Given the description of an element on the screen output the (x, y) to click on. 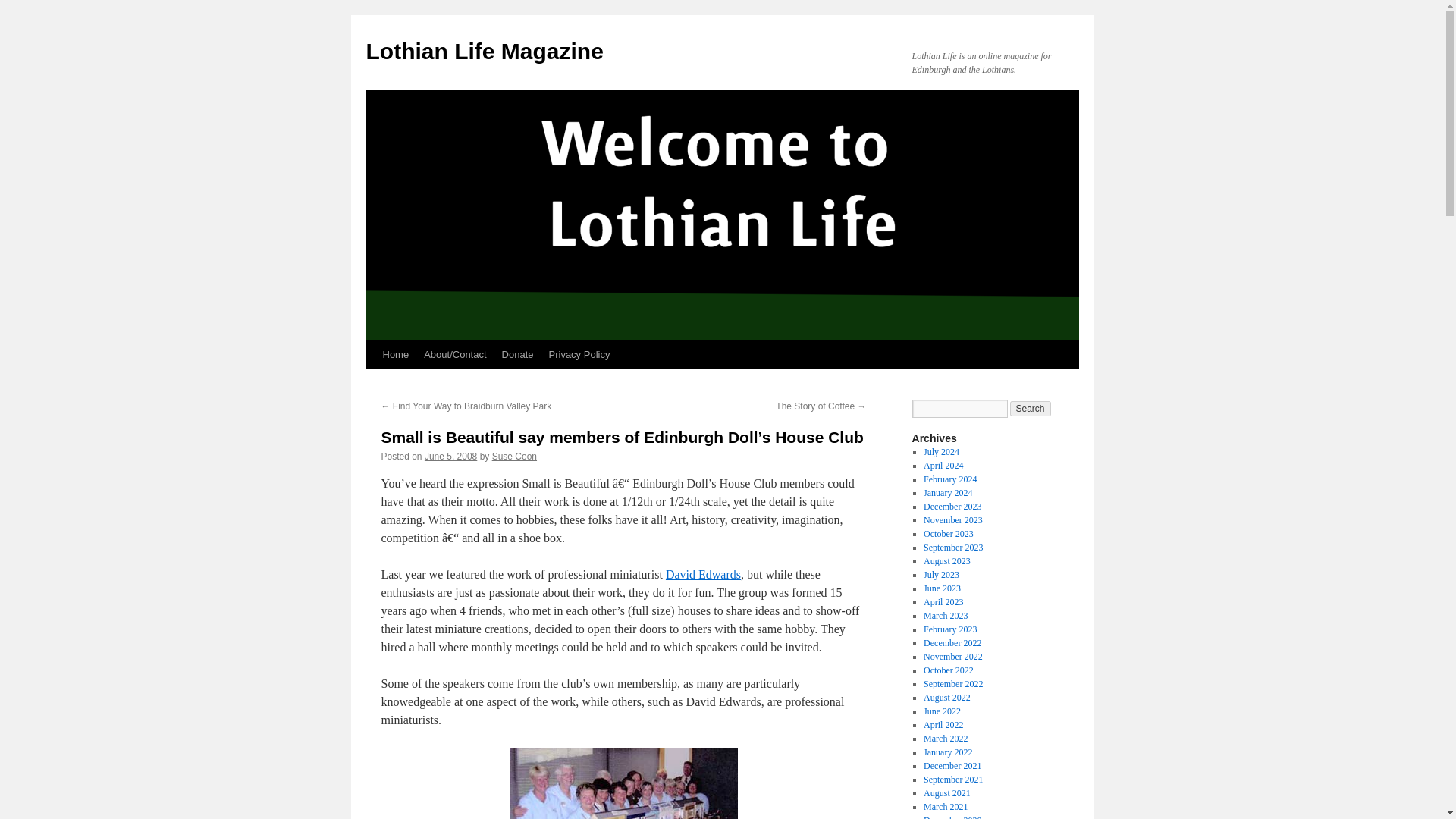
Search (1030, 408)
View all posts by Suse Coon (514, 456)
October 2022 (948, 670)
August 2023 (947, 561)
Home (395, 354)
November 2022 (952, 656)
February 2023 (949, 629)
December 2022 (952, 643)
Lothian Life Magazine (483, 50)
November 2023 (952, 520)
Donate (518, 354)
4:27 pm (451, 456)
April 2024 (942, 465)
Suse Coon (514, 456)
March 2023 (945, 615)
